Given the description of an element on the screen output the (x, y) to click on. 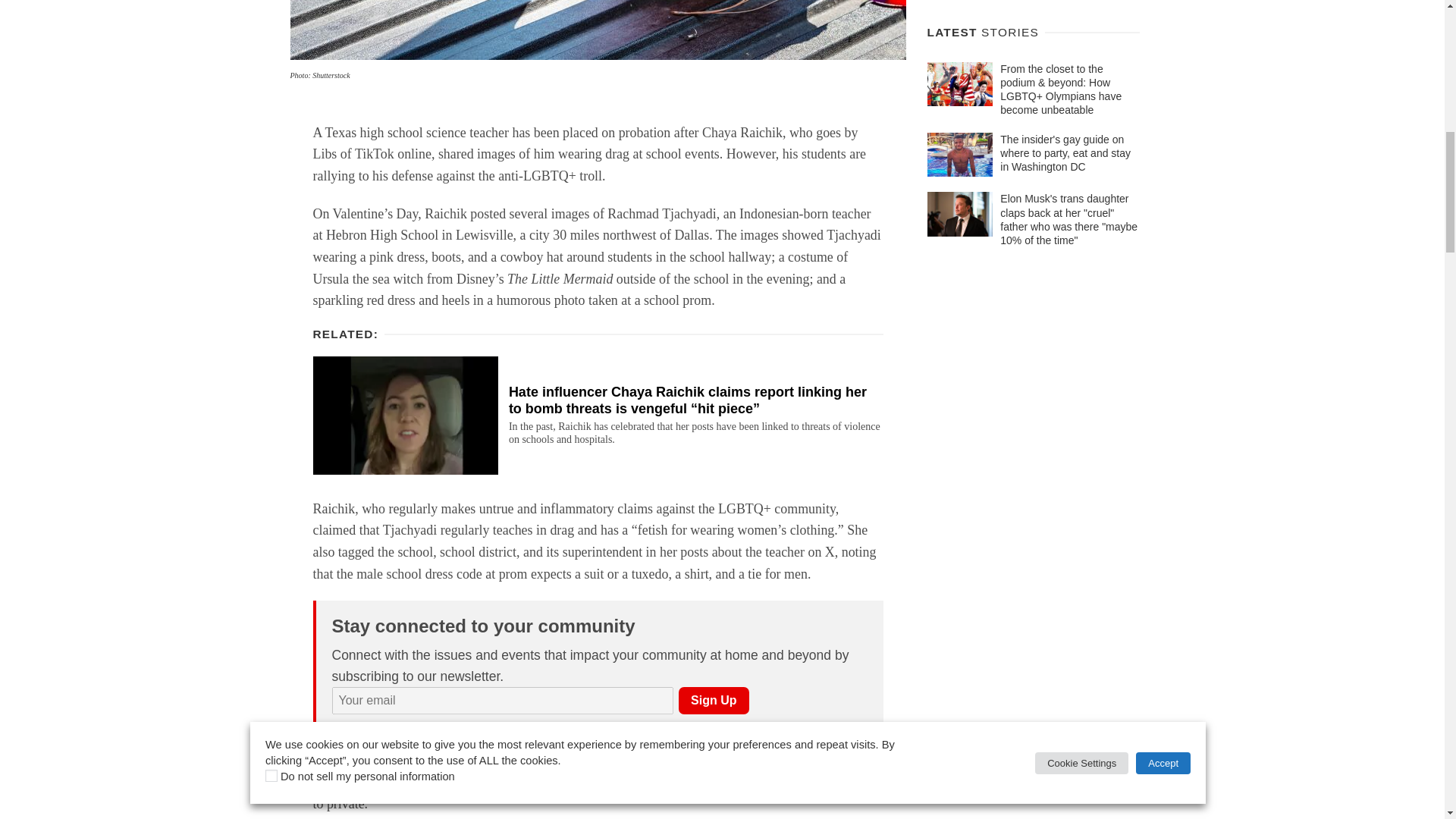
Sign Up (713, 700)
1920884 (389, 727)
Sign Up (713, 700)
1920885 (336, 727)
1920883 (457, 727)
